Given the description of an element on the screen output the (x, y) to click on. 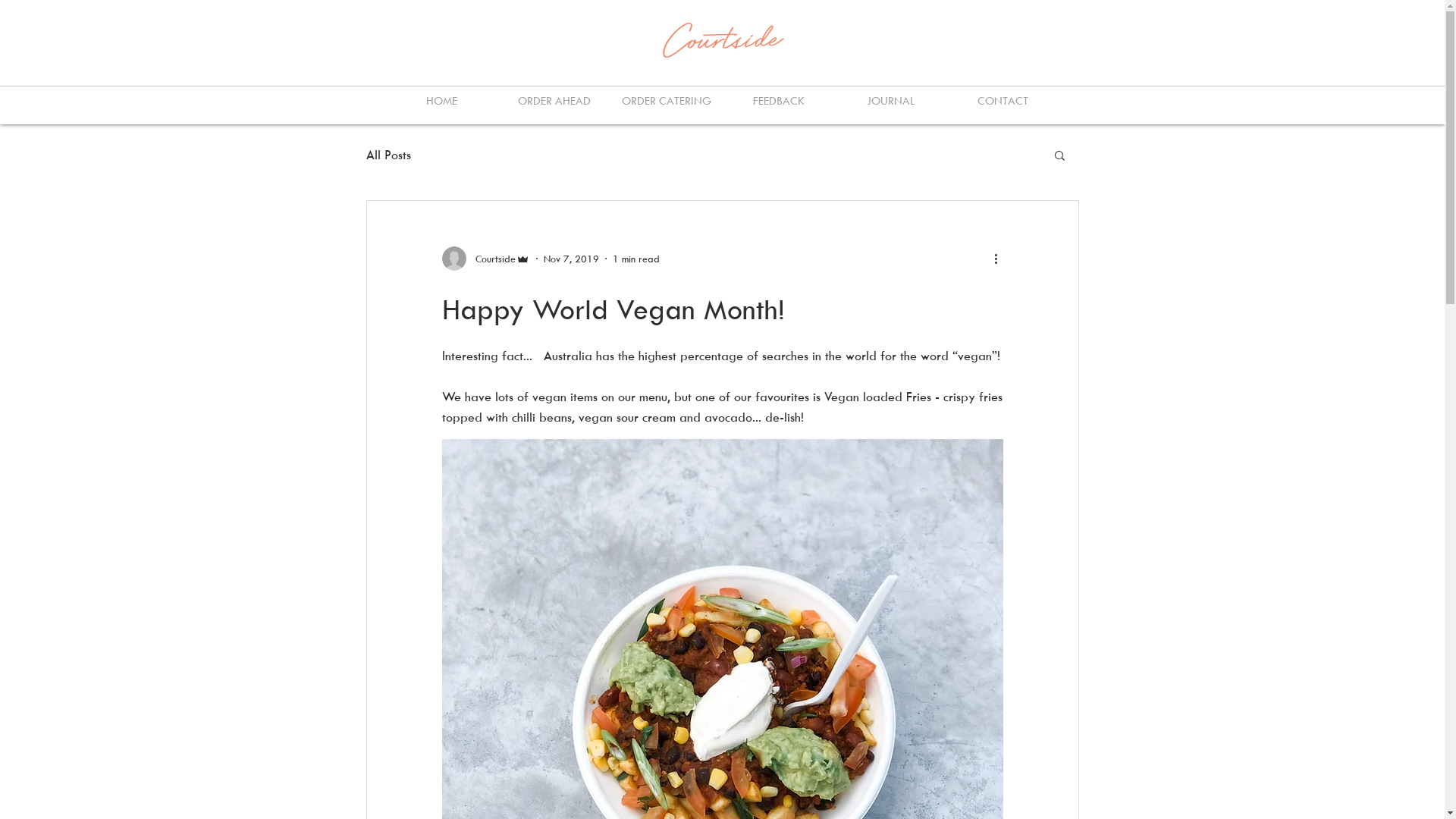
Courtside Element type: text (485, 258)
All Posts Element type: text (387, 154)
FEEDBACK Element type: text (777, 100)
JOURNAL Element type: text (890, 100)
CONTACT Element type: text (1002, 100)
ORDER CATERING Element type: text (665, 100)
ORDER AHEAD Element type: text (553, 100)
HOME Element type: text (441, 100)
